Given the description of an element on the screen output the (x, y) to click on. 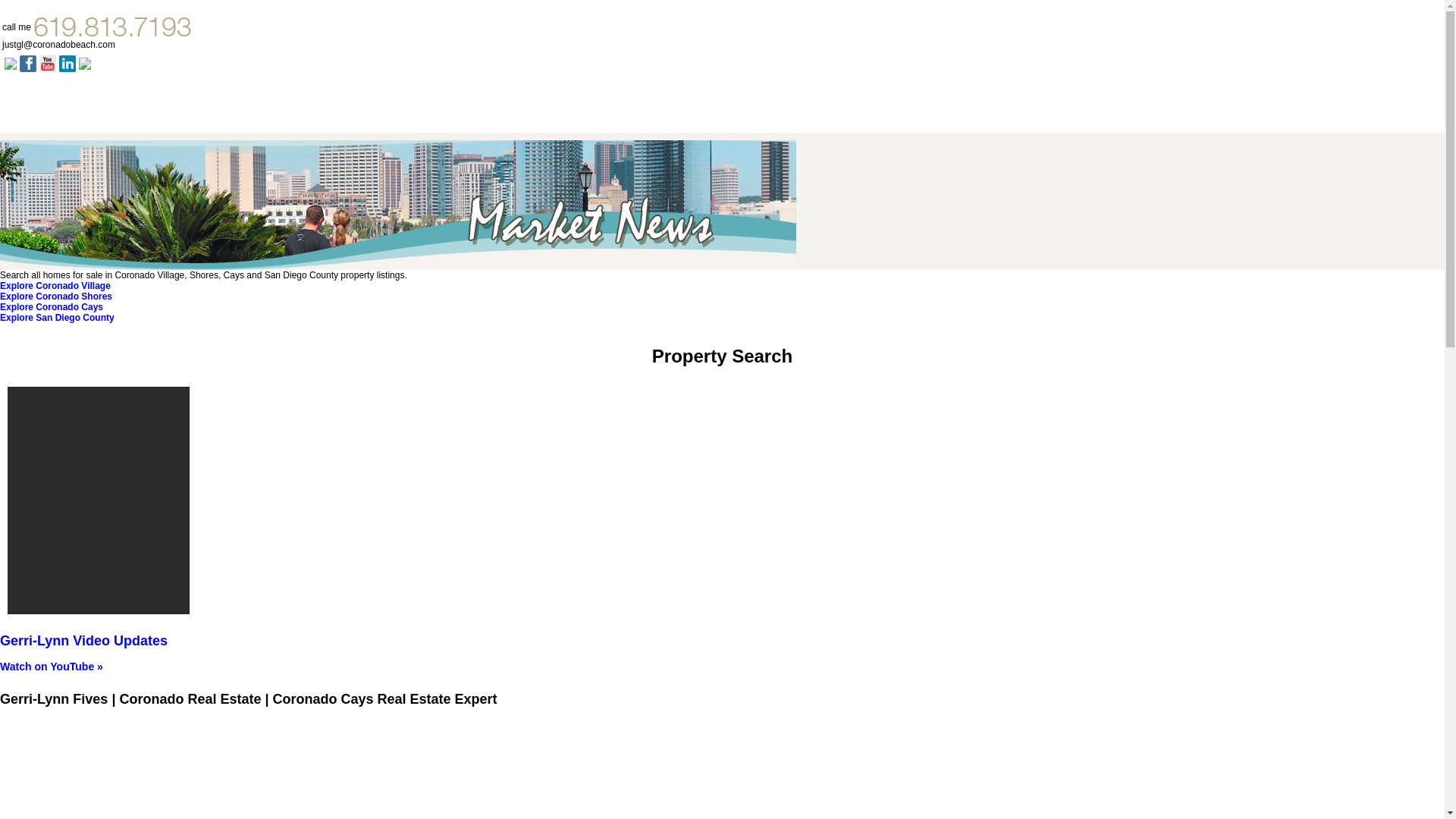
Welcome (31, 112)
Welcome (31, 112)
